Given the description of an element on the screen output the (x, y) to click on. 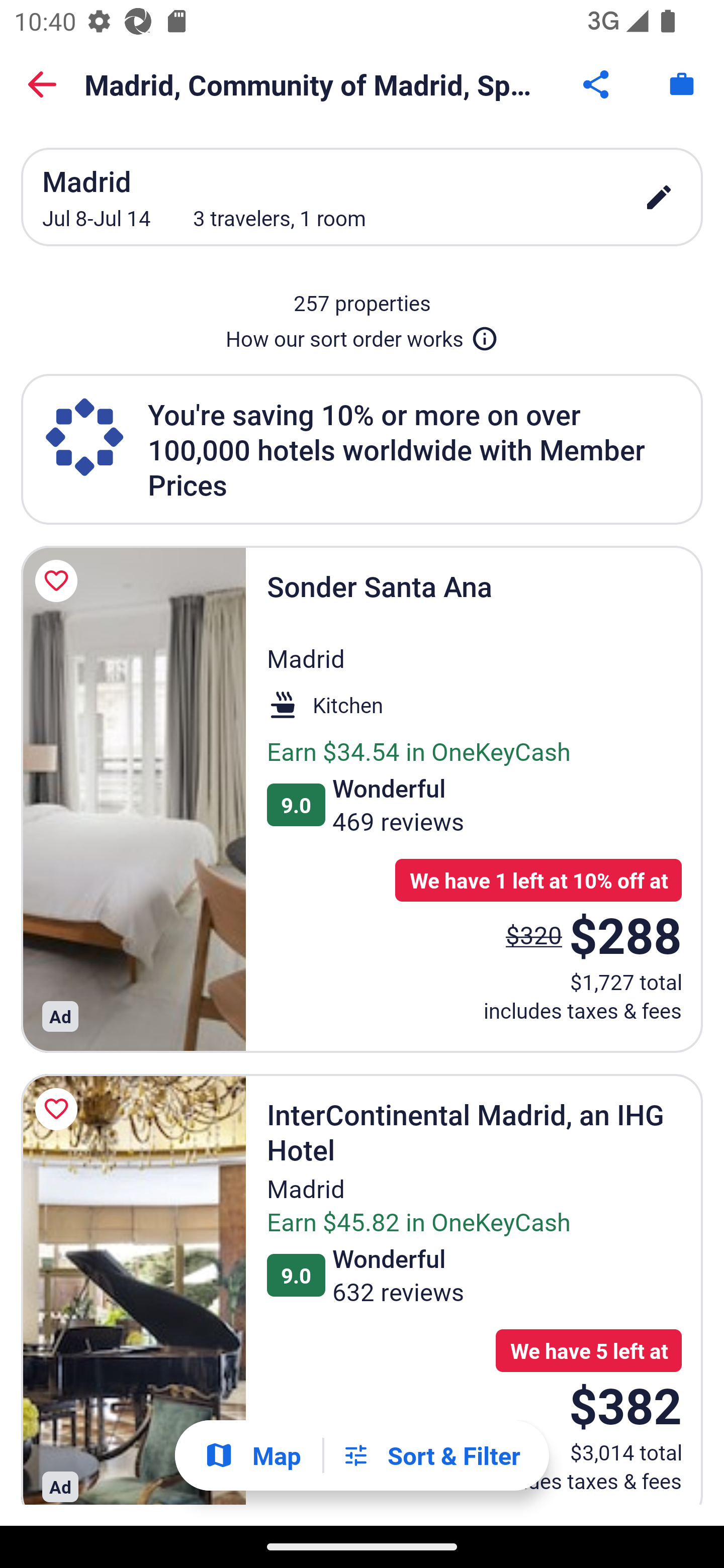
Back (42, 84)
Share Button (597, 84)
Trips. Button (681, 84)
Madrid Jul 8-Jul 14 3 travelers, 1 room edit (361, 196)
How our sort order works (361, 334)
Save Sonder Santa Ana to a trip (59, 580)
Sonder Santa Ana (133, 798)
$320 The price was $320 (533, 934)
InterContinental Madrid, an IHG Hotel (133, 1289)
Filters Sort & Filter Filters Button (430, 1455)
Show map Map Show map Button (252, 1455)
